Given the description of an element on the screen output the (x, y) to click on. 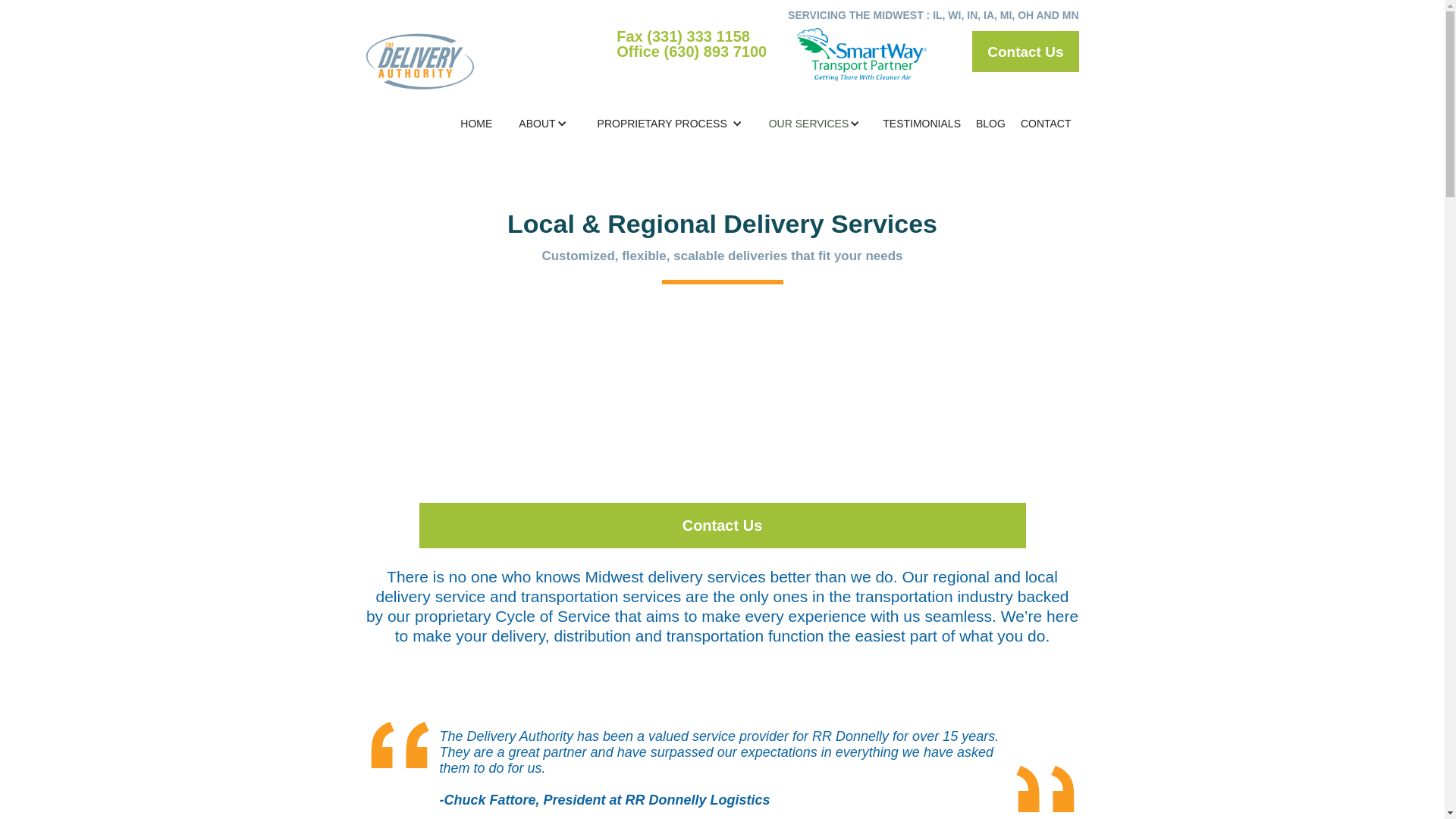
HOME (475, 123)
Contact Us (1025, 51)
TESTIMONIALS (921, 120)
Midwest delivery services (675, 576)
Contact Us (722, 524)
CONTACT (1045, 120)
BLOG (990, 120)
SERVICING THE MIDWEST : IL, WI, IN, IA, MI, OH AND MN (932, 15)
OUR SERVICES (808, 123)
